Given the description of an element on the screen output the (x, y) to click on. 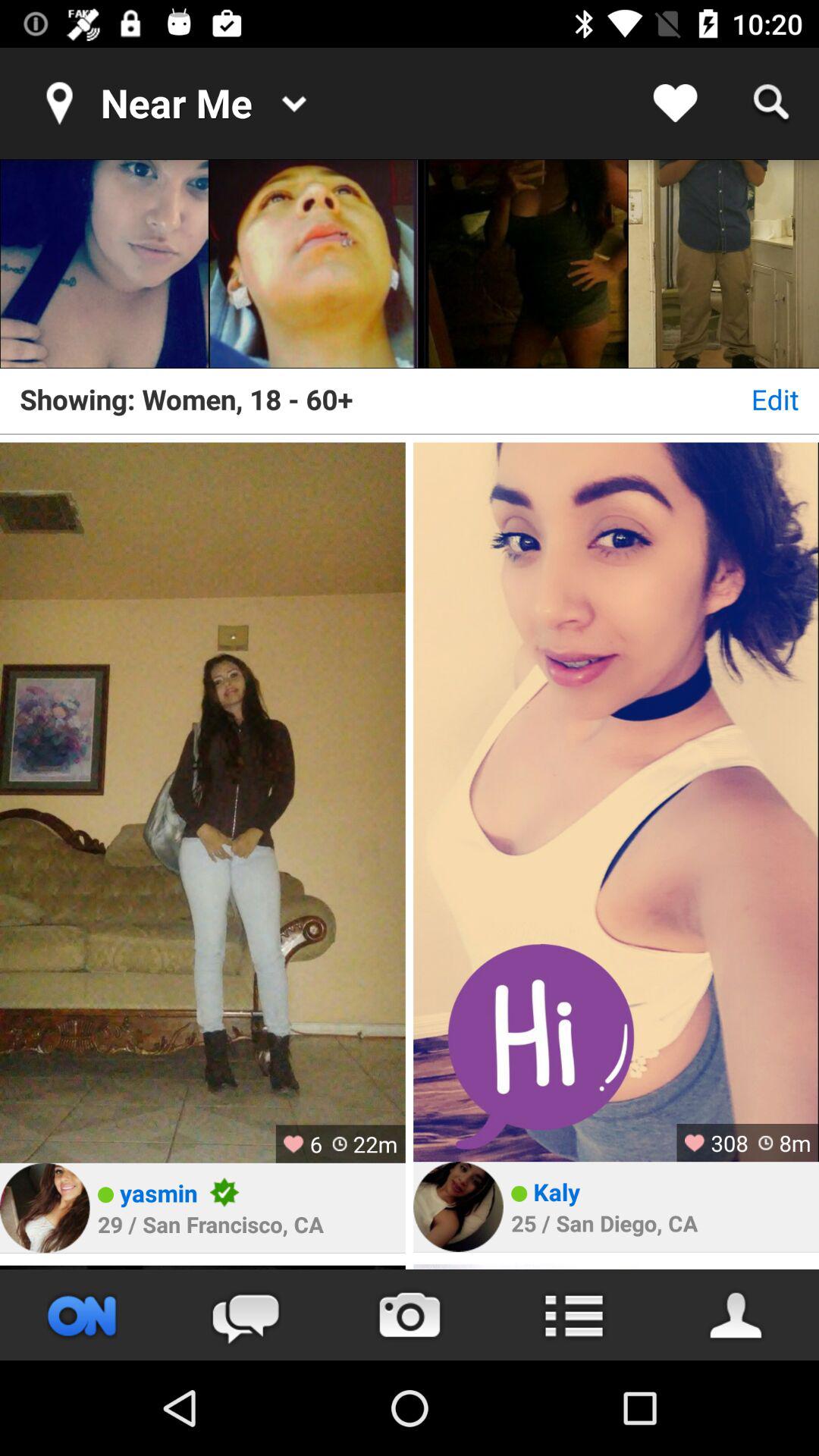
launch item below the near me (313, 263)
